Given the description of an element on the screen output the (x, y) to click on. 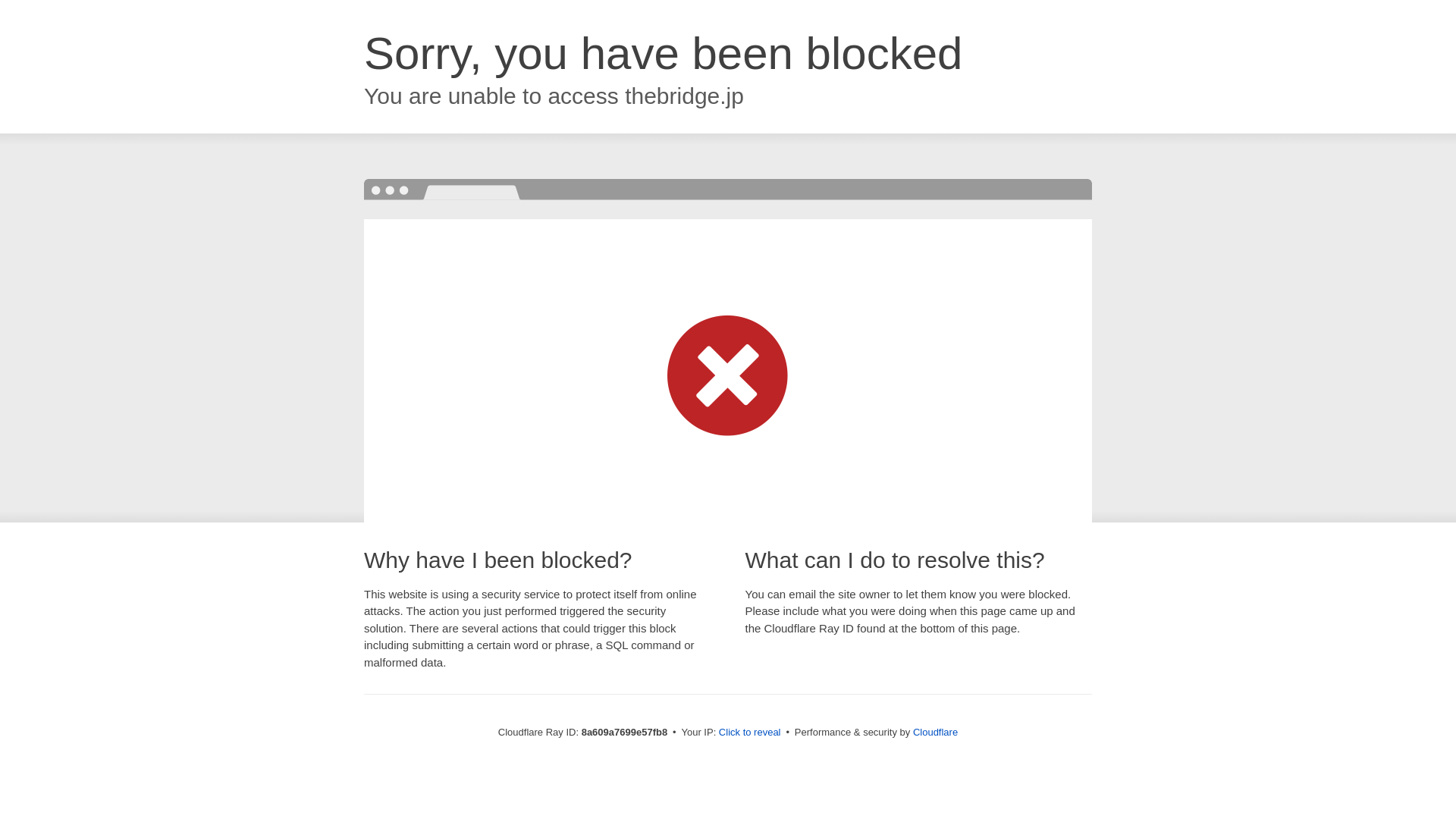
Cloudflare (935, 731)
Click to reveal (749, 732)
